Given the description of an element on the screen output the (x, y) to click on. 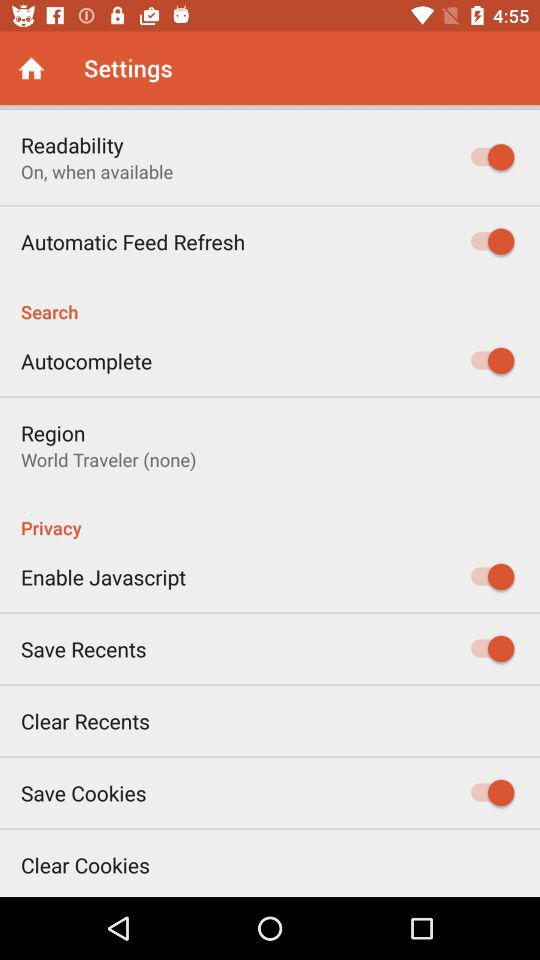
click clear cookies (85, 864)
